Given the description of an element on the screen output the (x, y) to click on. 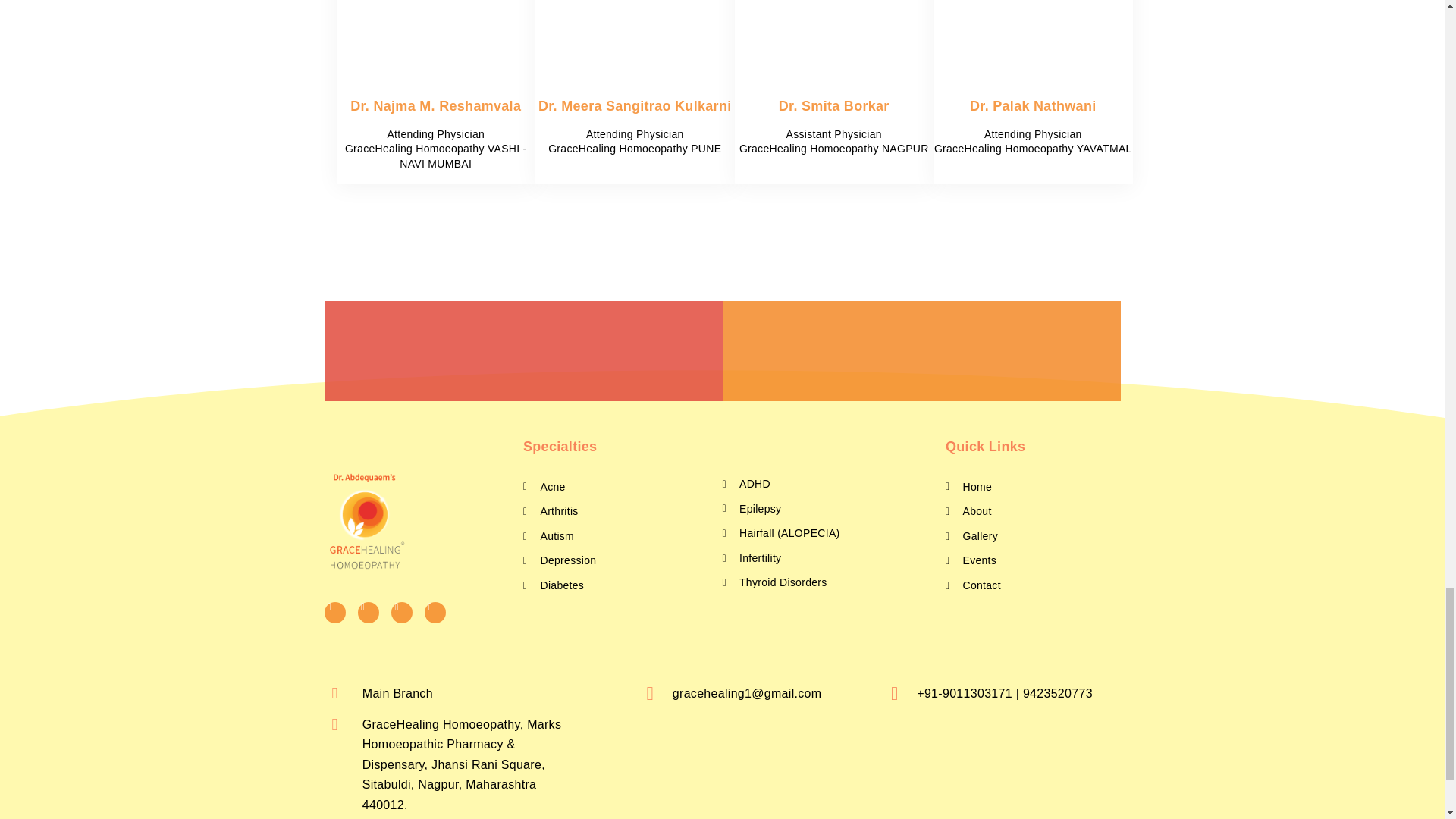
Dr. Najma M. Reshamvala (435, 105)
Dr. Meera Sangitrao Kulkarni (634, 105)
